Given the description of an element on the screen output the (x, y) to click on. 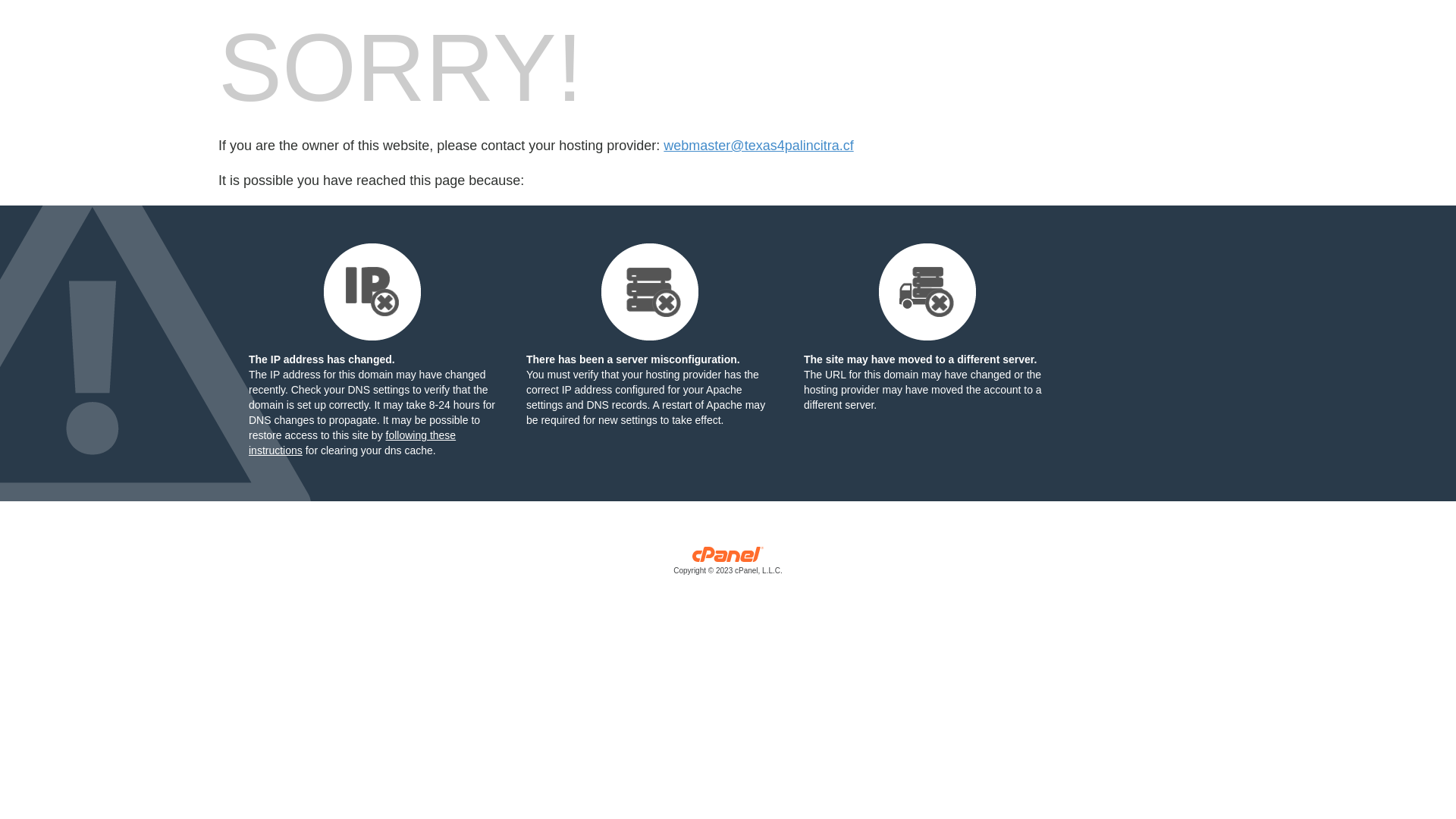
webmaster@texas4palincitra.cf Element type: text (758, 145)
following these instructions Element type: text (351, 442)
